Given the description of an element on the screen output the (x, y) to click on. 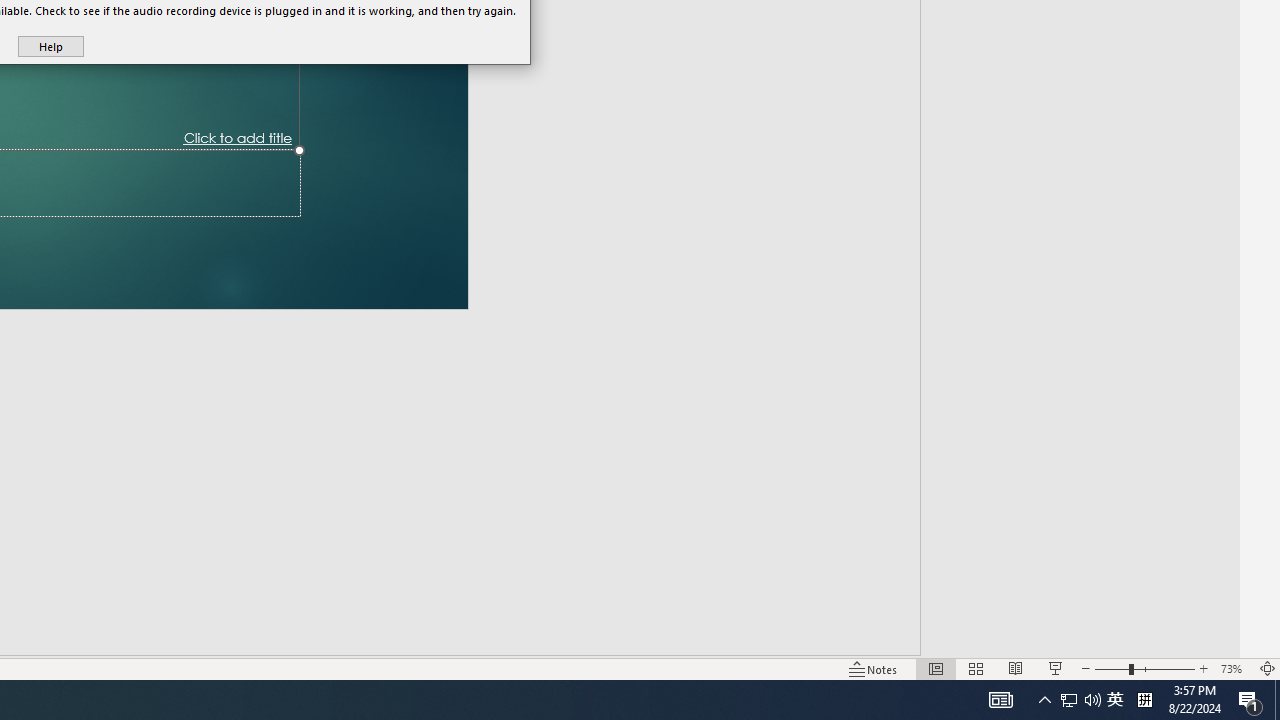
User Promoted Notification Area (1080, 699)
Slide Sorter (975, 668)
Normal (936, 668)
Zoom In (1204, 668)
